Given the description of an element on the screen output the (x, y) to click on. 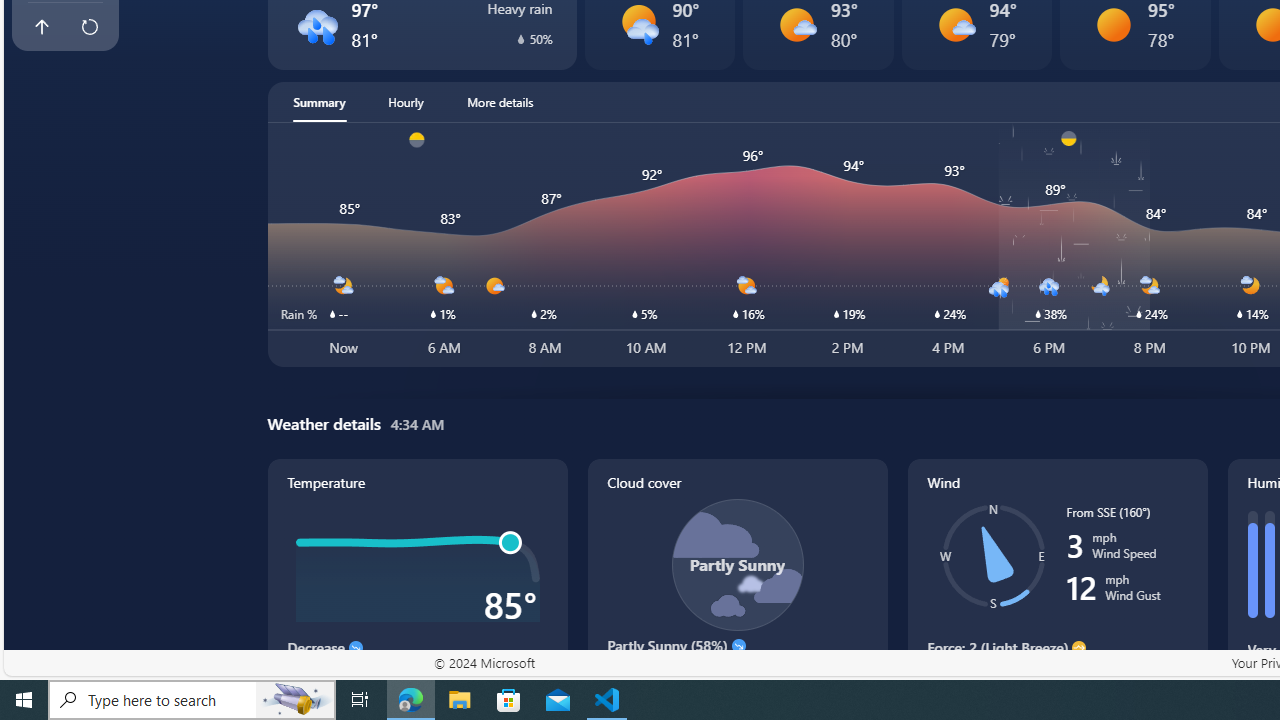
Class: cloudCoverSvg-DS-ps0R9q (736, 564)
Mostly sunny (954, 24)
Temperature (417, 584)
More details (500, 101)
Wind (1057, 584)
Heavy rain (316, 24)
Back to top (41, 26)
Decrease (355, 647)
Sunny (1114, 24)
Decreasing with mostly sunny sky at 8:00 AM. (736, 674)
Summary (319, 101)
Light rain showers (638, 24)
